Given the description of an element on the screen output the (x, y) to click on. 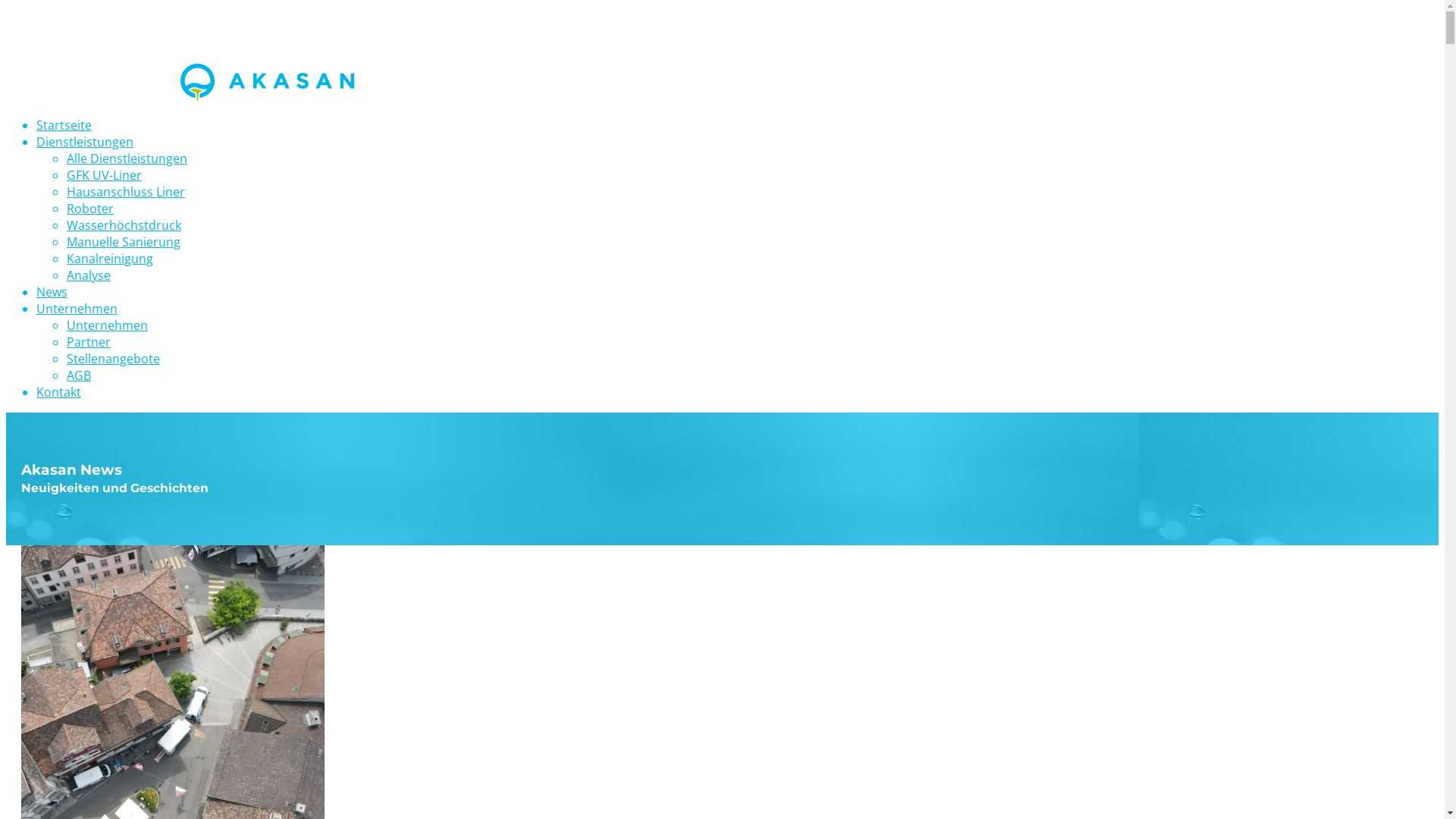
Hausanschluss Liner Element type: text (125, 191)
Partner Element type: text (88, 341)
GFK UV-Liner Element type: text (103, 174)
Unternehmen Element type: text (76, 308)
Analyse Element type: text (88, 274)
Stellenangebote Element type: text (113, 358)
Kanalreinigung Element type: text (109, 258)
Unternehmen Element type: text (106, 324)
Dienstleistungen Element type: text (84, 141)
Alle Dienstleistungen Element type: text (126, 158)
AGB Element type: text (78, 375)
Roboter Element type: text (89, 208)
News Element type: text (51, 291)
Startseite Element type: text (63, 125)
Manuelle Sanierung Element type: text (123, 241)
Kontakt Element type: text (58, 391)
